Given the description of an element on the screen output the (x, y) to click on. 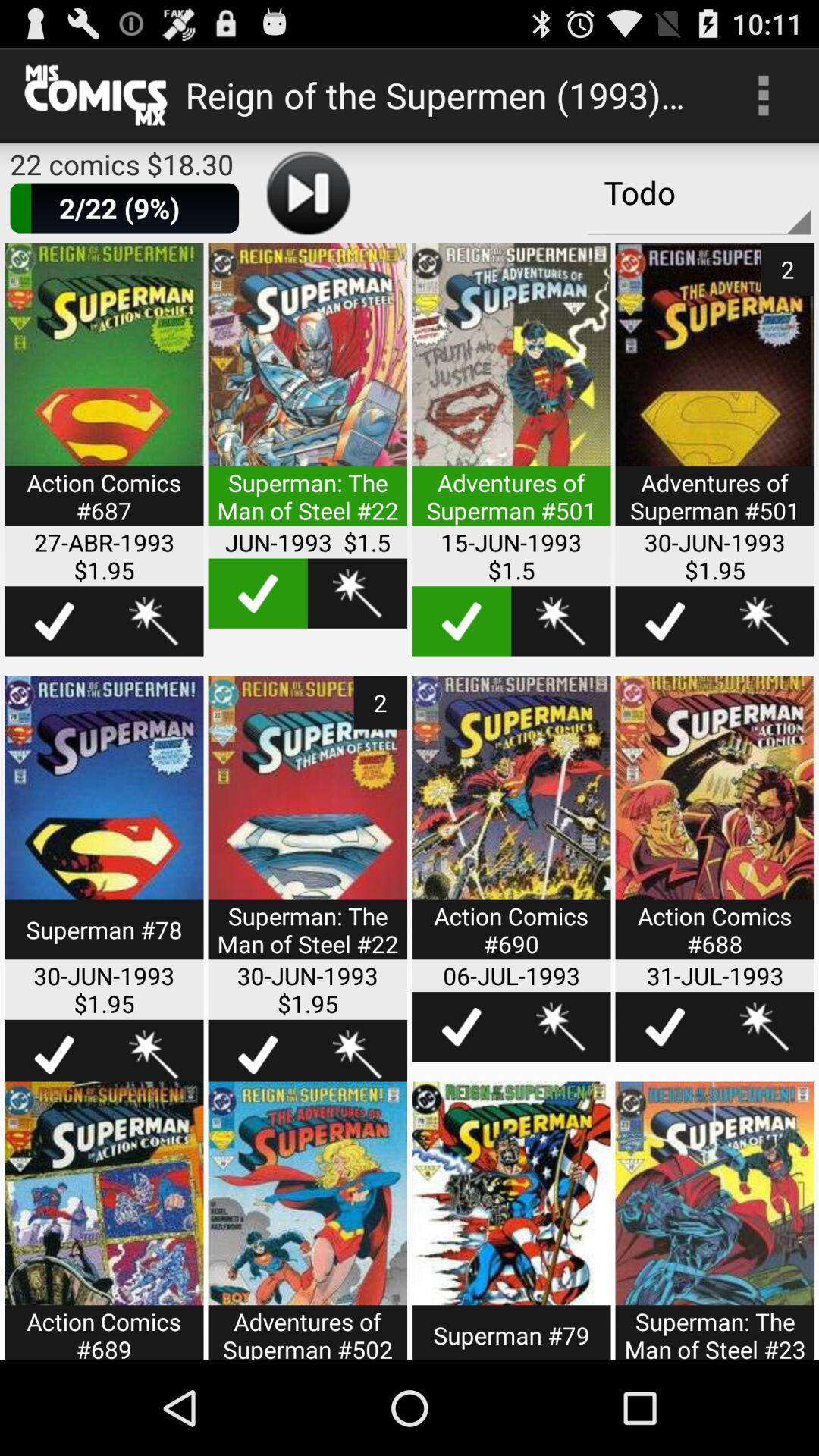
check (461, 621)
